Given the description of an element on the screen output the (x, y) to click on. 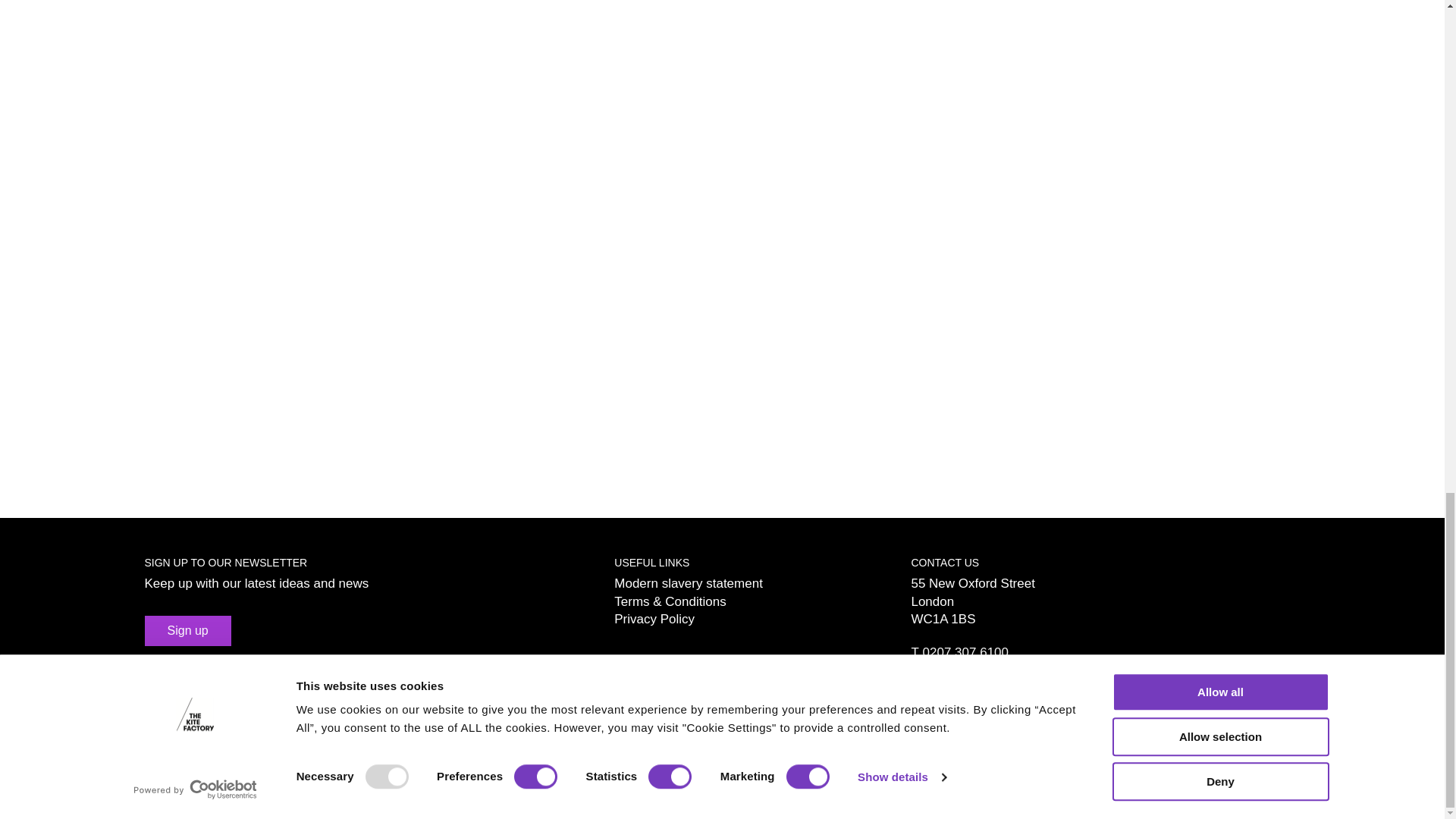
Sign up (187, 630)
